Given the description of an element on the screen output the (x, y) to click on. 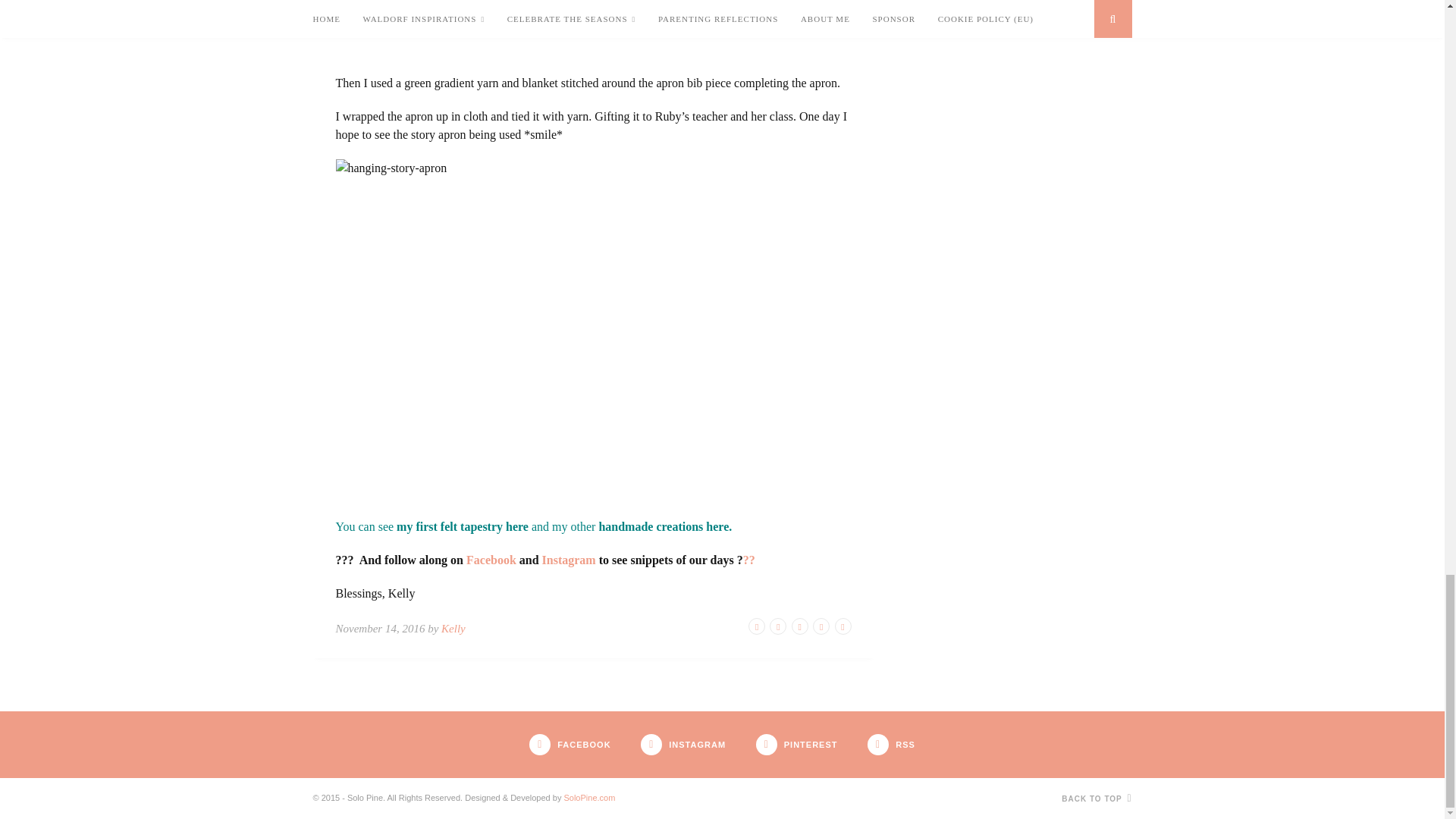
Facebook (490, 559)
?? (748, 559)
Instagram (568, 559)
handmade creations here (663, 526)
Posts by Kelly (453, 628)
my first felt tapestry here (462, 526)
Kelly (453, 628)
